Given the description of an element on the screen output the (x, y) to click on. 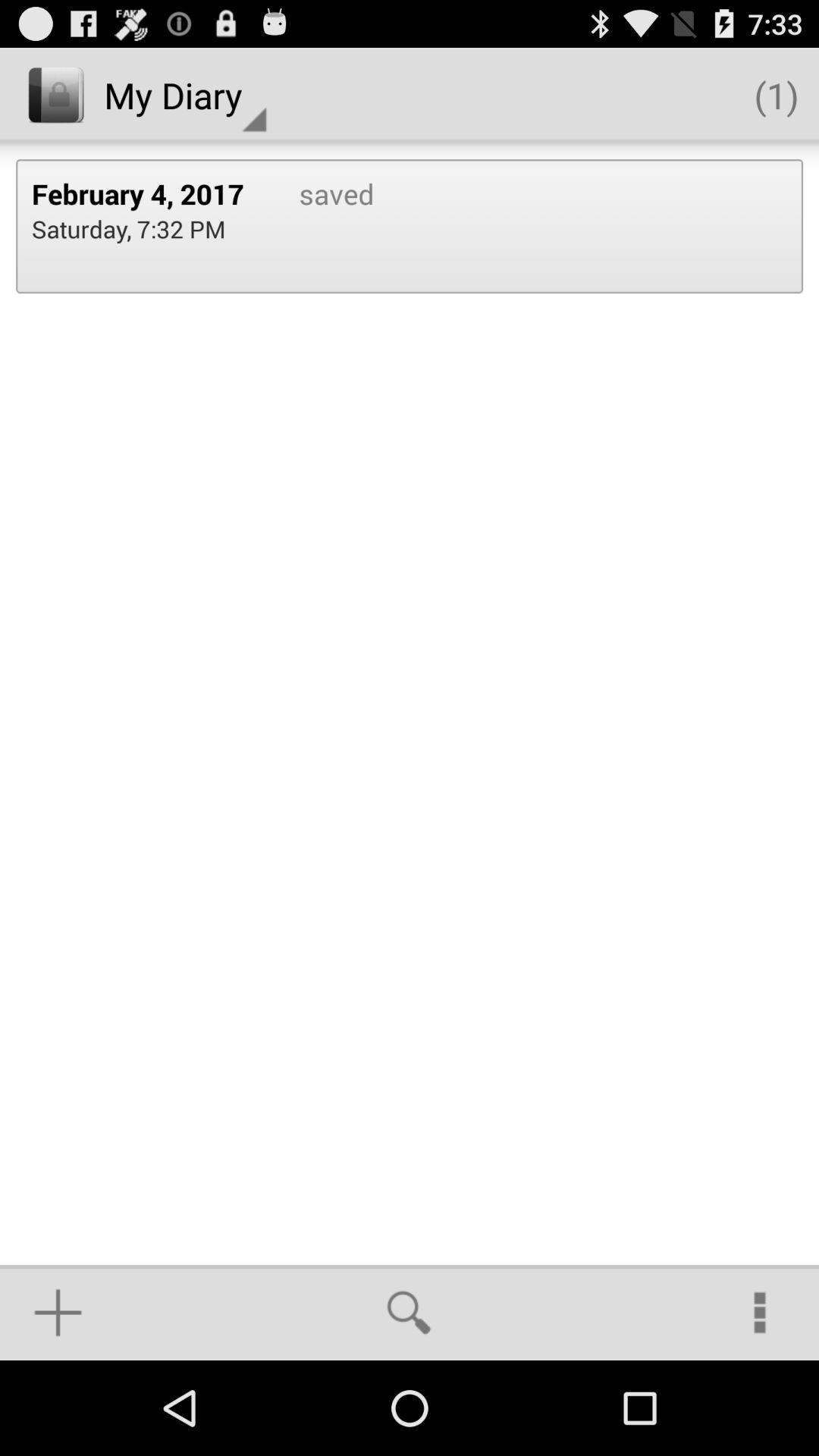
open the app below saved icon (408, 1312)
